Given the description of an element on the screen output the (x, y) to click on. 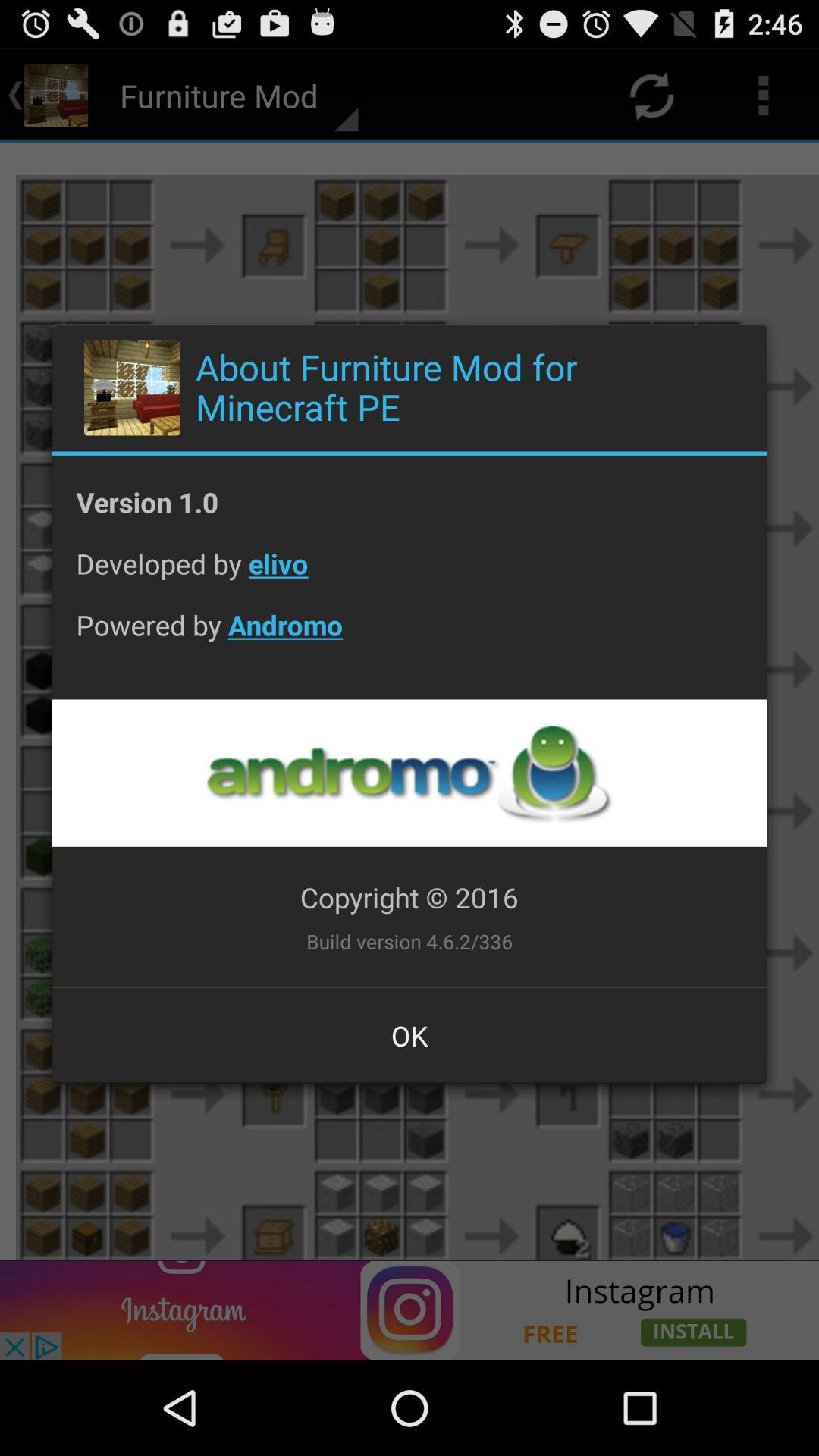
open item below build version 4 item (409, 1035)
